Given the description of an element on the screen output the (x, y) to click on. 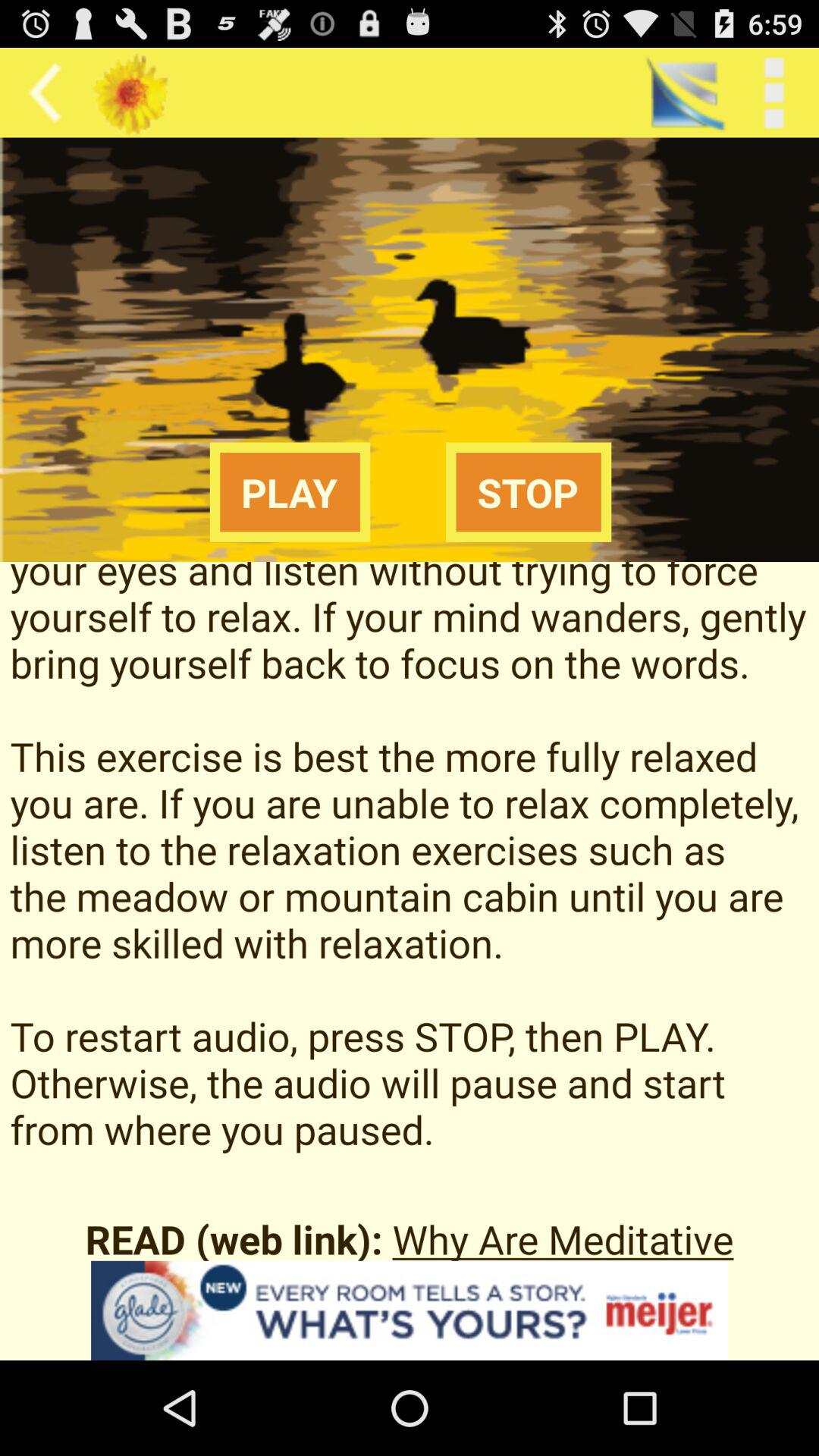
know about the advertisement (409, 1310)
